Given the description of an element on the screen output the (x, y) to click on. 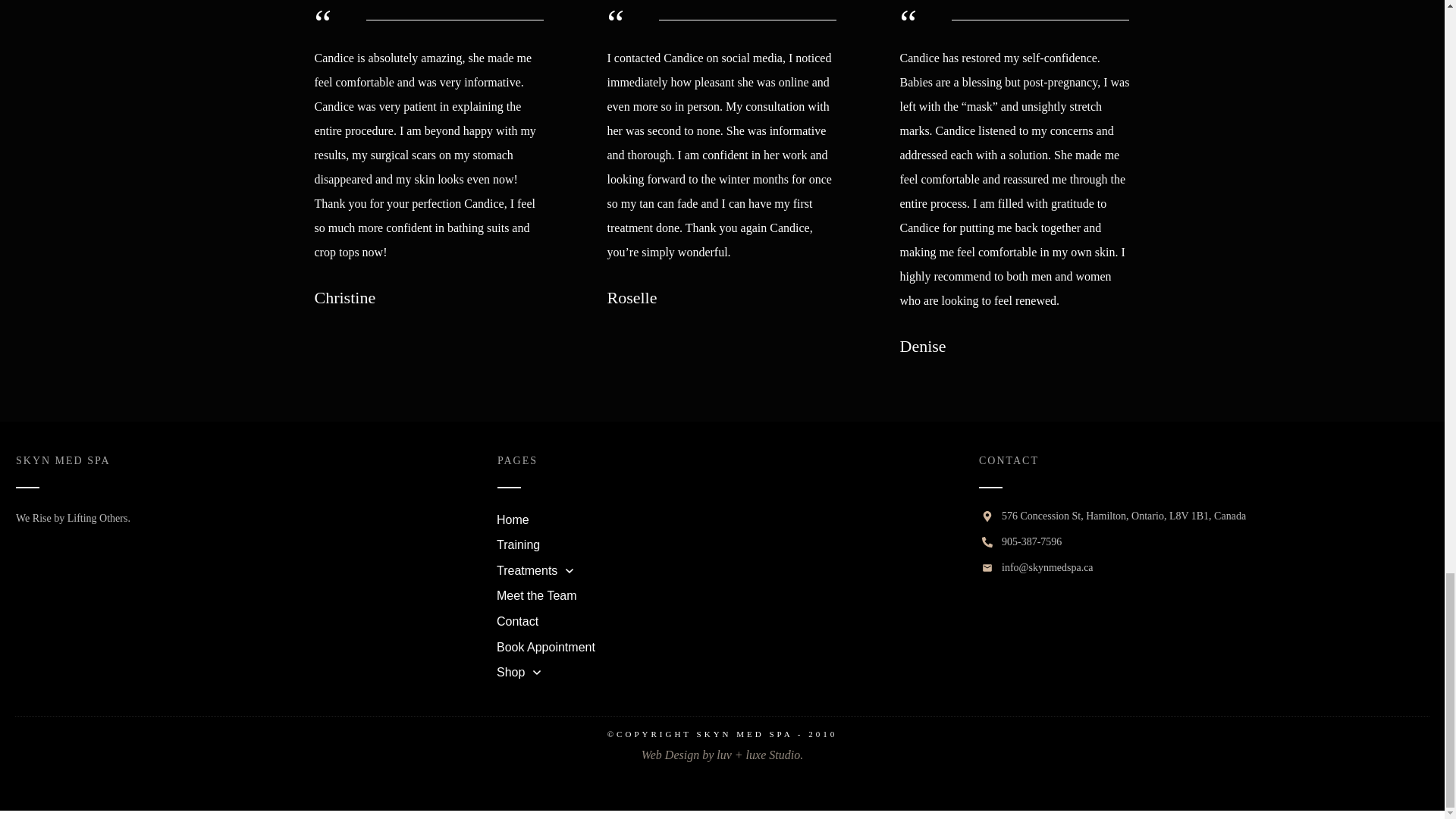
Training (518, 545)
Book Appointment (545, 647)
Home (512, 519)
Shop (519, 672)
Treatments (535, 570)
Meet the Team (536, 596)
Contact (517, 621)
